Given the description of an element on the screen output the (x, y) to click on. 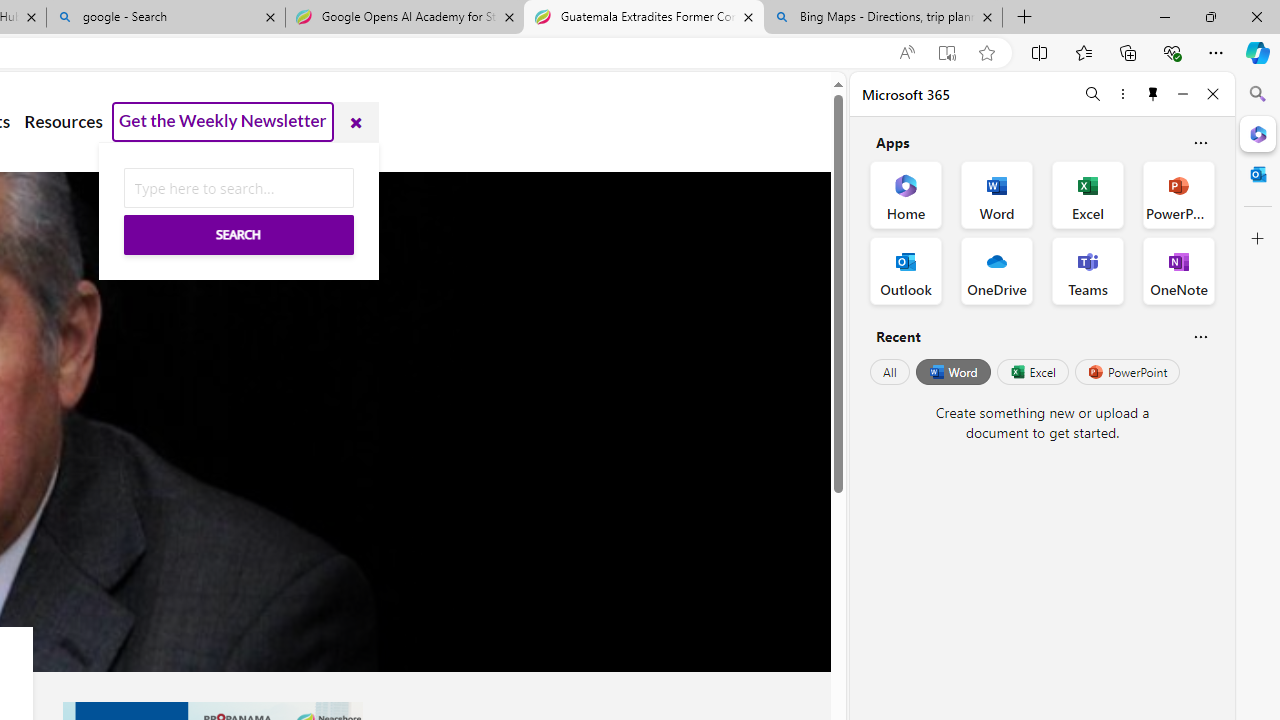
Excel Office App (1087, 194)
Excel (1031, 372)
Word Office App (996, 194)
PowerPoint Office App (1178, 194)
Google Opens AI Academy for Startups - Nearshore Americas (404, 17)
OneDrive Office App (996, 270)
Home Office App (906, 194)
